Given the description of an element on the screen output the (x, y) to click on. 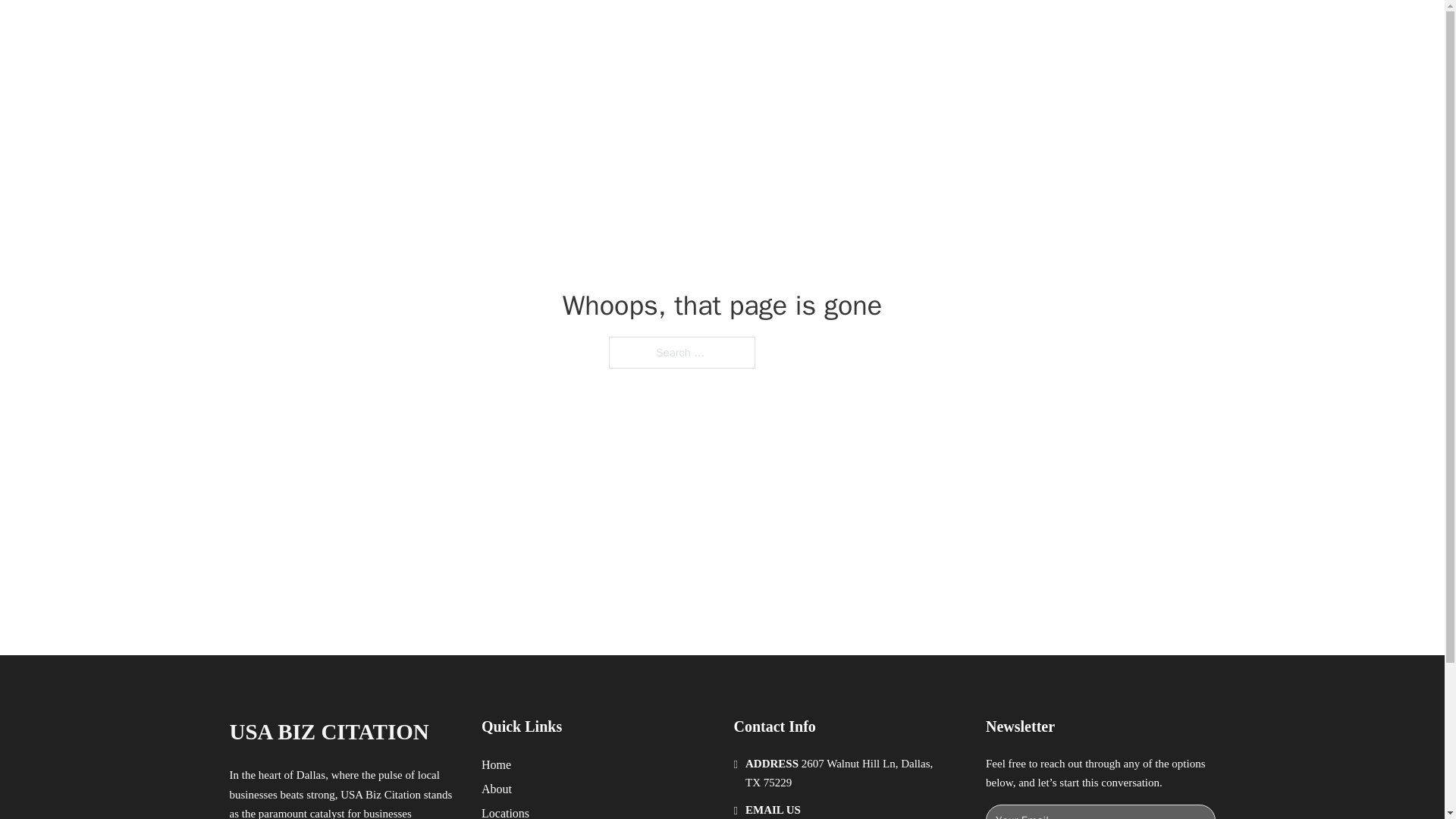
Locations (505, 811)
USA BIZ CITATION (328, 732)
About (496, 788)
LOCATIONS (990, 29)
Home (496, 764)
HOME (919, 29)
